Given the description of an element on the screen output the (x, y) to click on. 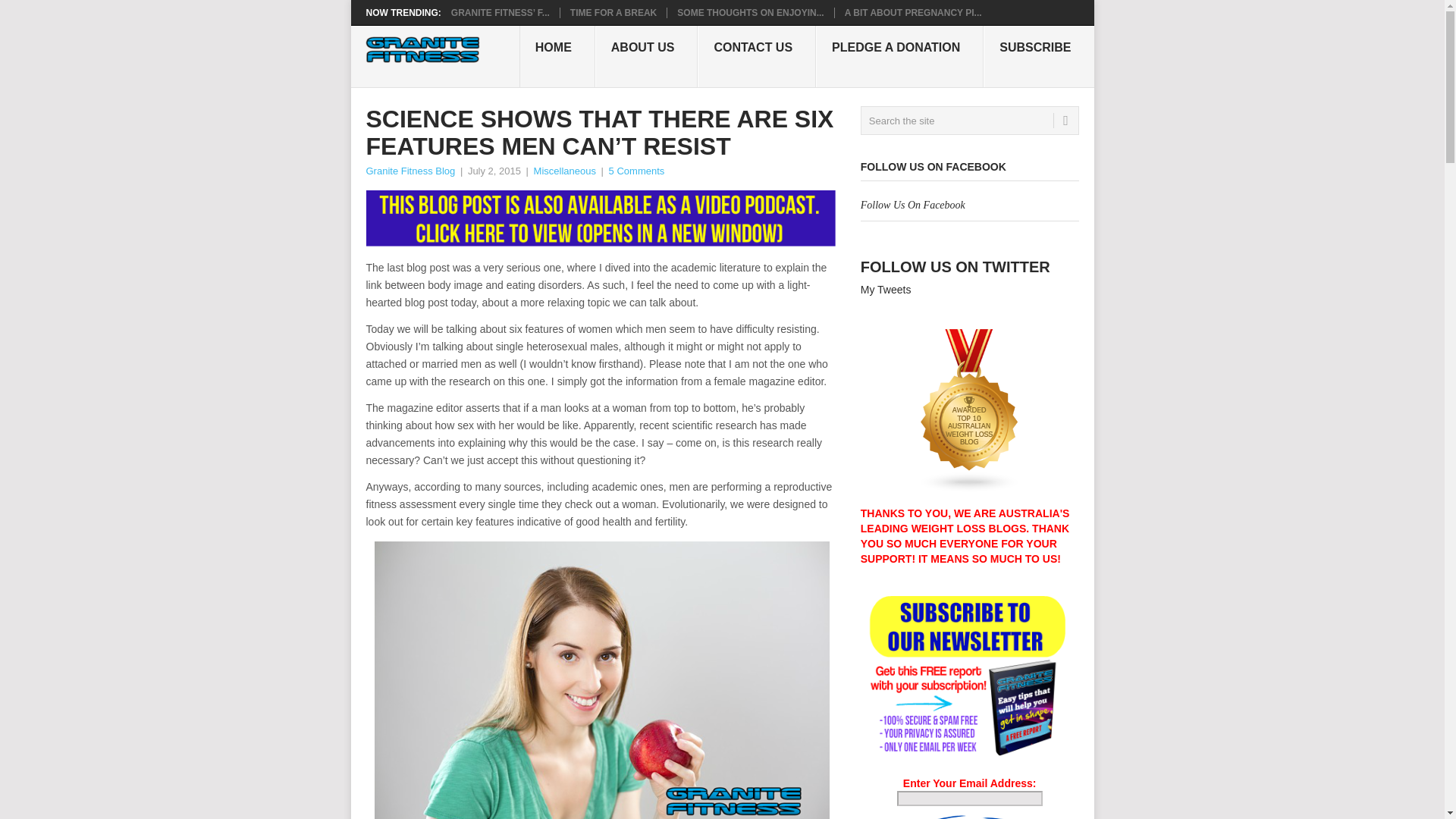
SOME THOUGHTS ON ENJOYIN... (750, 12)
CONTACT US (756, 56)
A Bit About Pregnancy Pilates (912, 12)
HOME (557, 56)
SUBSCRIBE (1038, 56)
5 Comments (636, 170)
Posts by Granite Fitness Blog (409, 170)
Some Thoughts on Enjoying Eating (750, 12)
A BIT ABOUT PREGNANCY PI... (912, 12)
Granite Fitness Blog (409, 170)
Miscellaneous (564, 170)
PLEDGE A DONATION (899, 56)
ABOUT US (646, 56)
Search the site (969, 120)
Time For A Break (613, 12)
